Given the description of an element on the screen output the (x, y) to click on. 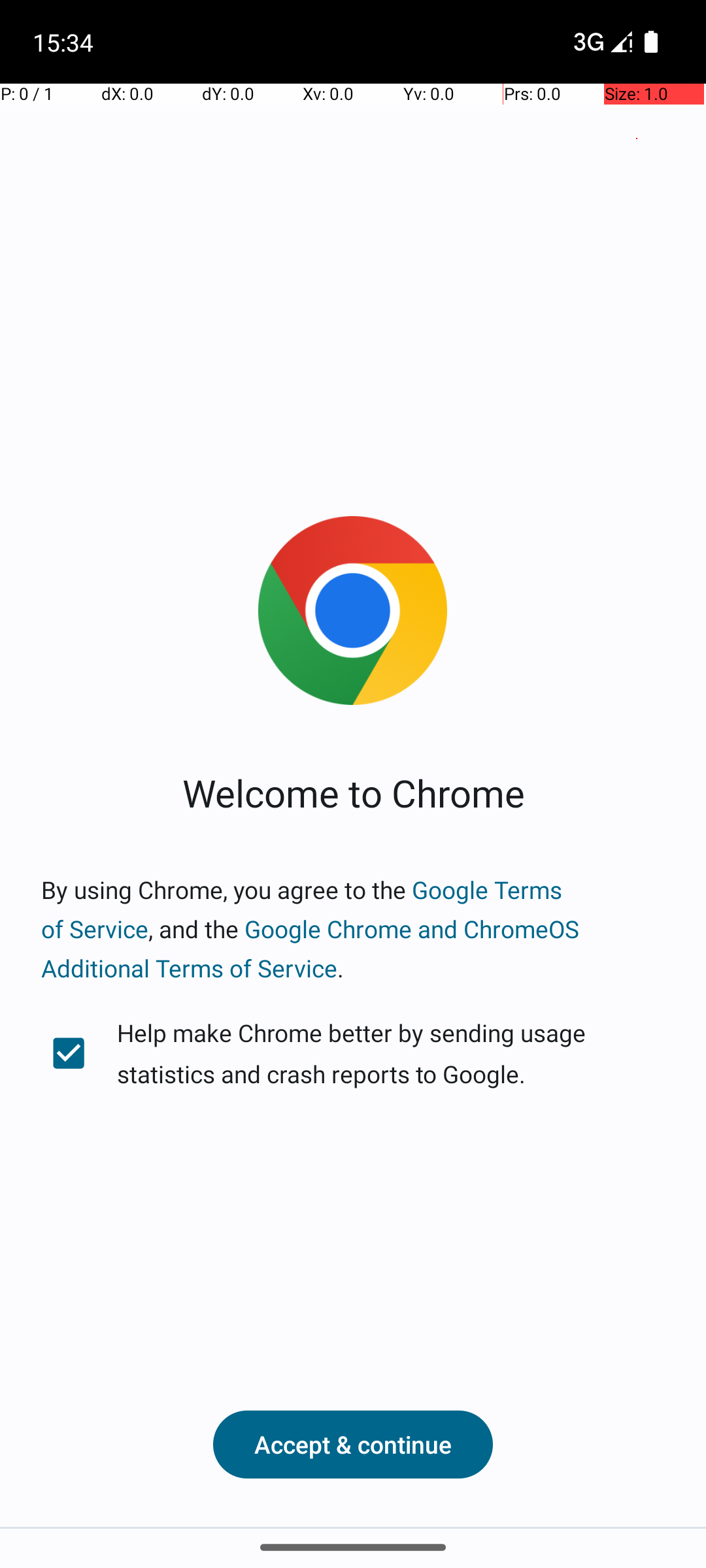
Accept & continue Element type: android.widget.Button (352, 1444)
Welcome to Chrome Element type: android.widget.TextView (352, 792)
By using Chrome, you agree to the Google Terms of Service, and the Google Chrome and ChromeOS Additional Terms of Service. Element type: android.widget.TextView (352, 928)
Help make Chrome better by sending usage statistics and crash reports to Google. Element type: android.widget.CheckBox (352, 1053)
